Given the description of an element on the screen output the (x, y) to click on. 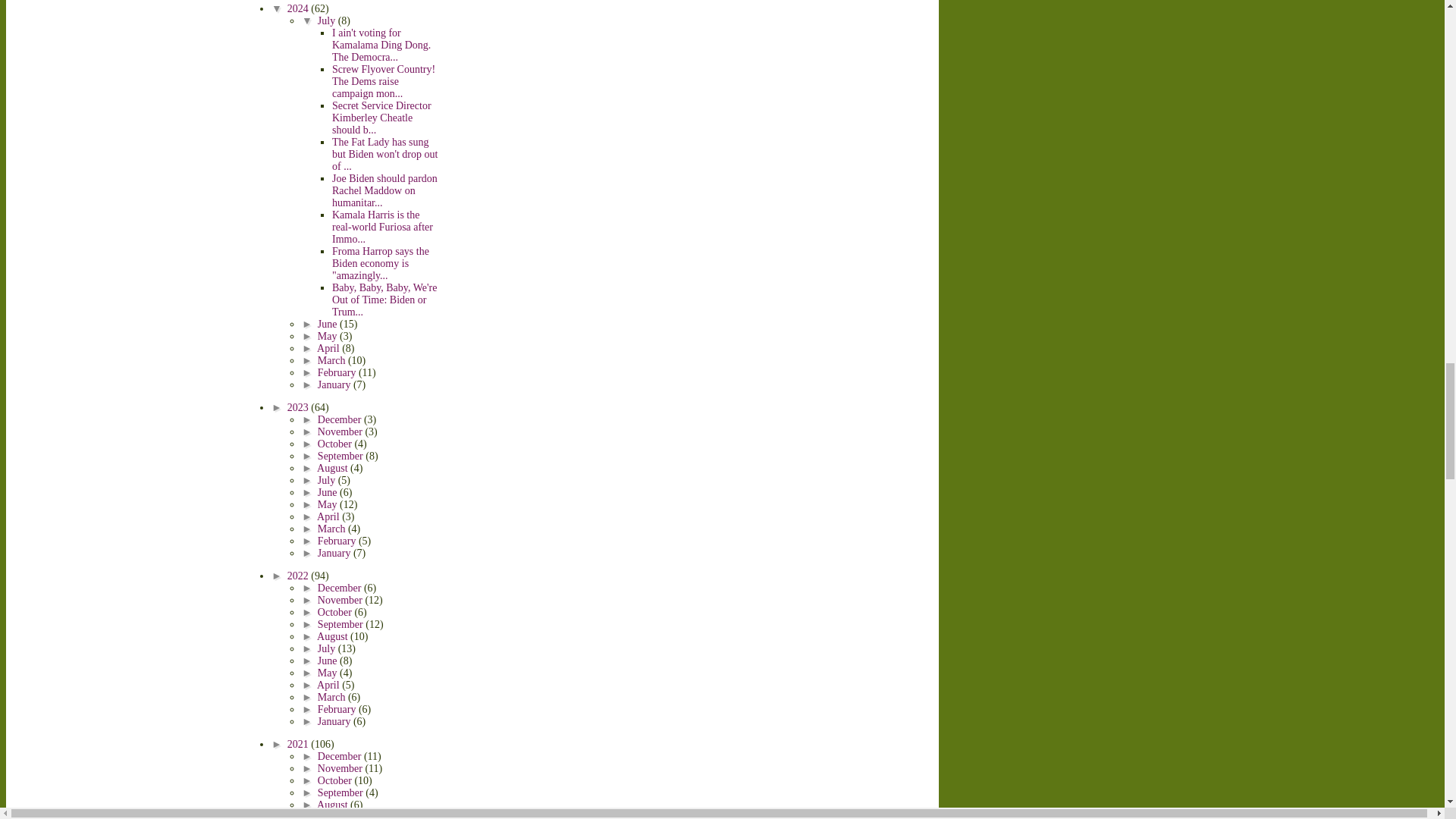
Screw Flyover Country! The Dems raise campaign mon... (383, 81)
July (327, 20)
2024 (298, 8)
I ain't voting for Kamalama Ding Dong. The Democra... (380, 45)
